Given the description of an element on the screen output the (x, y) to click on. 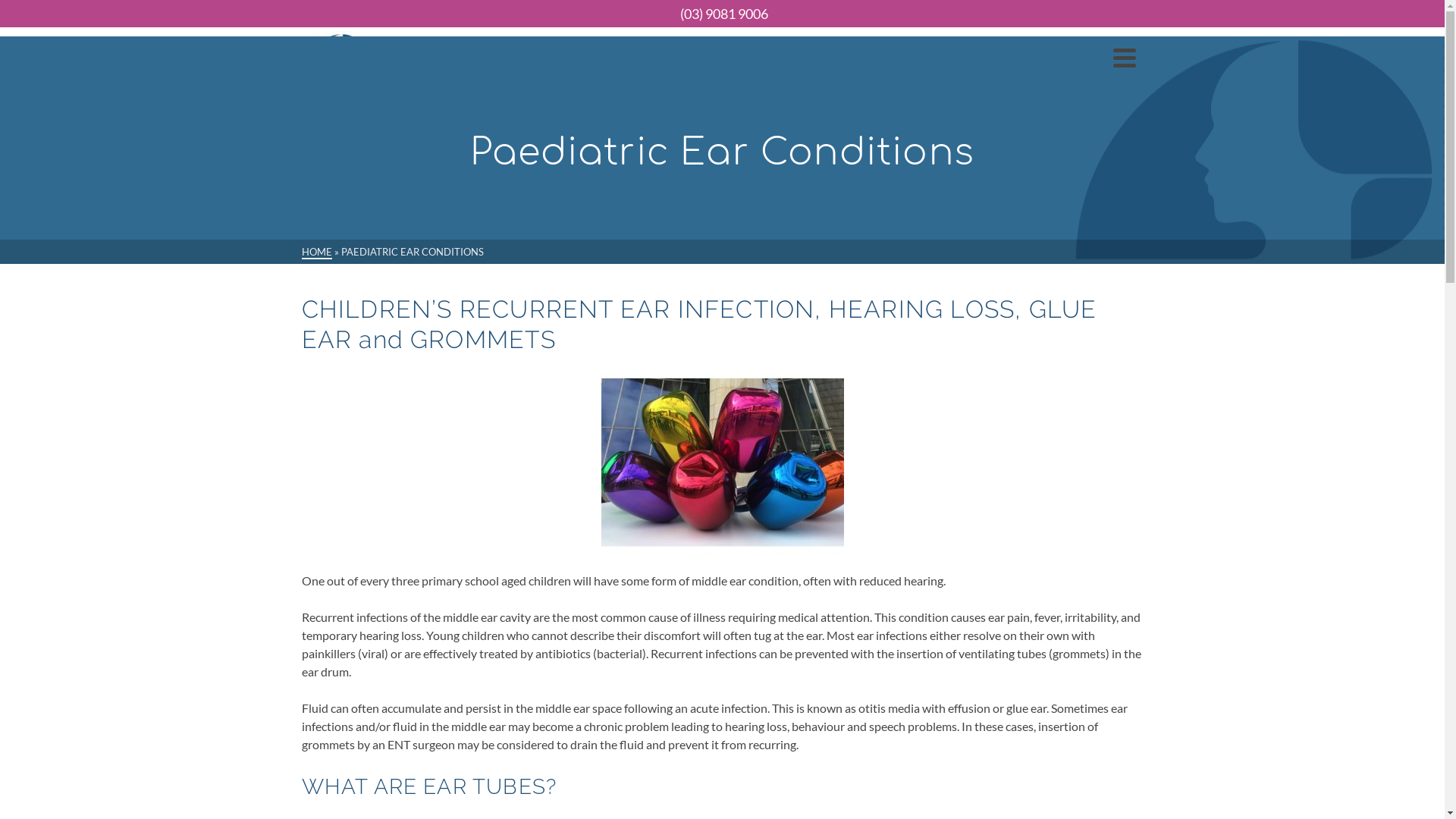
HOME Element type: text (316, 252)
(03) 9081 9006 Element type: text (721, 13)
